Given the description of an element on the screen output the (x, y) to click on. 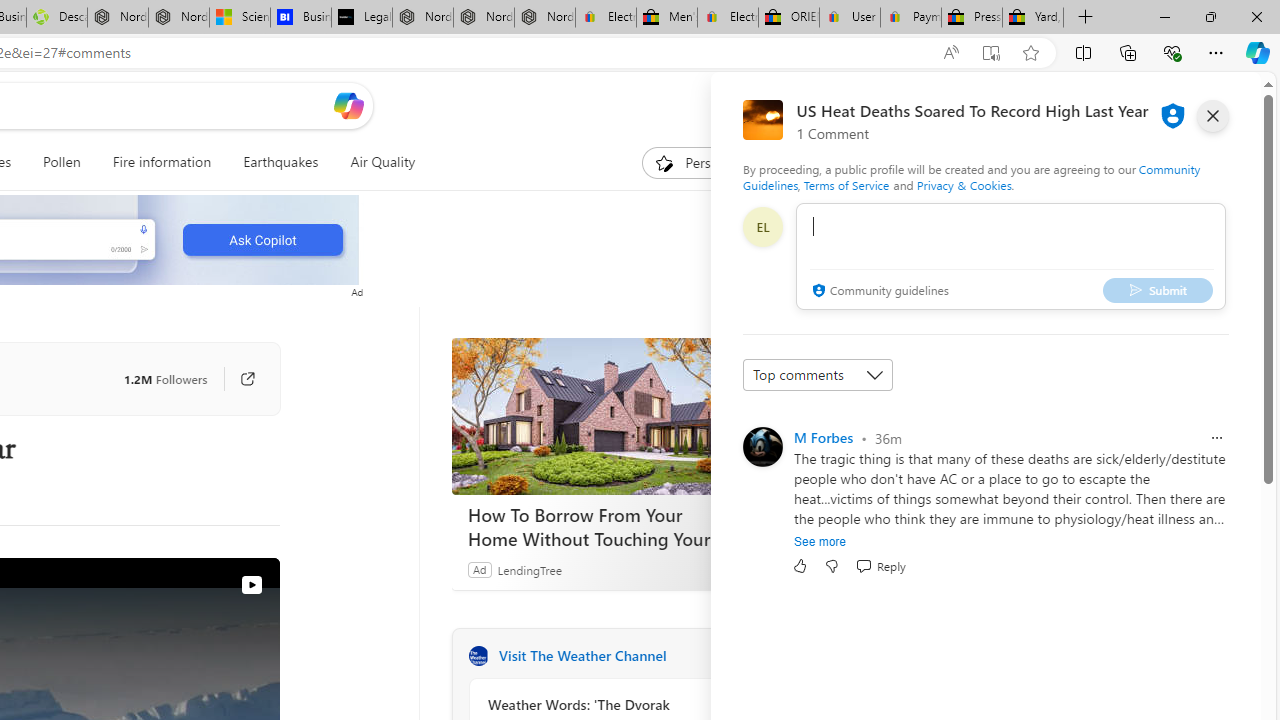
Report comment (1216, 437)
New Tab (1085, 17)
Profile Picture (762, 446)
Read aloud this page (Ctrl+Shift+U) (910, 53)
View on Watch (251, 585)
Open settings (1216, 105)
Microsoft rewards (1137, 105)
Payments Terms of Use | eBay.com (910, 17)
Restore (1210, 16)
